Given the description of an element on the screen output the (x, y) to click on. 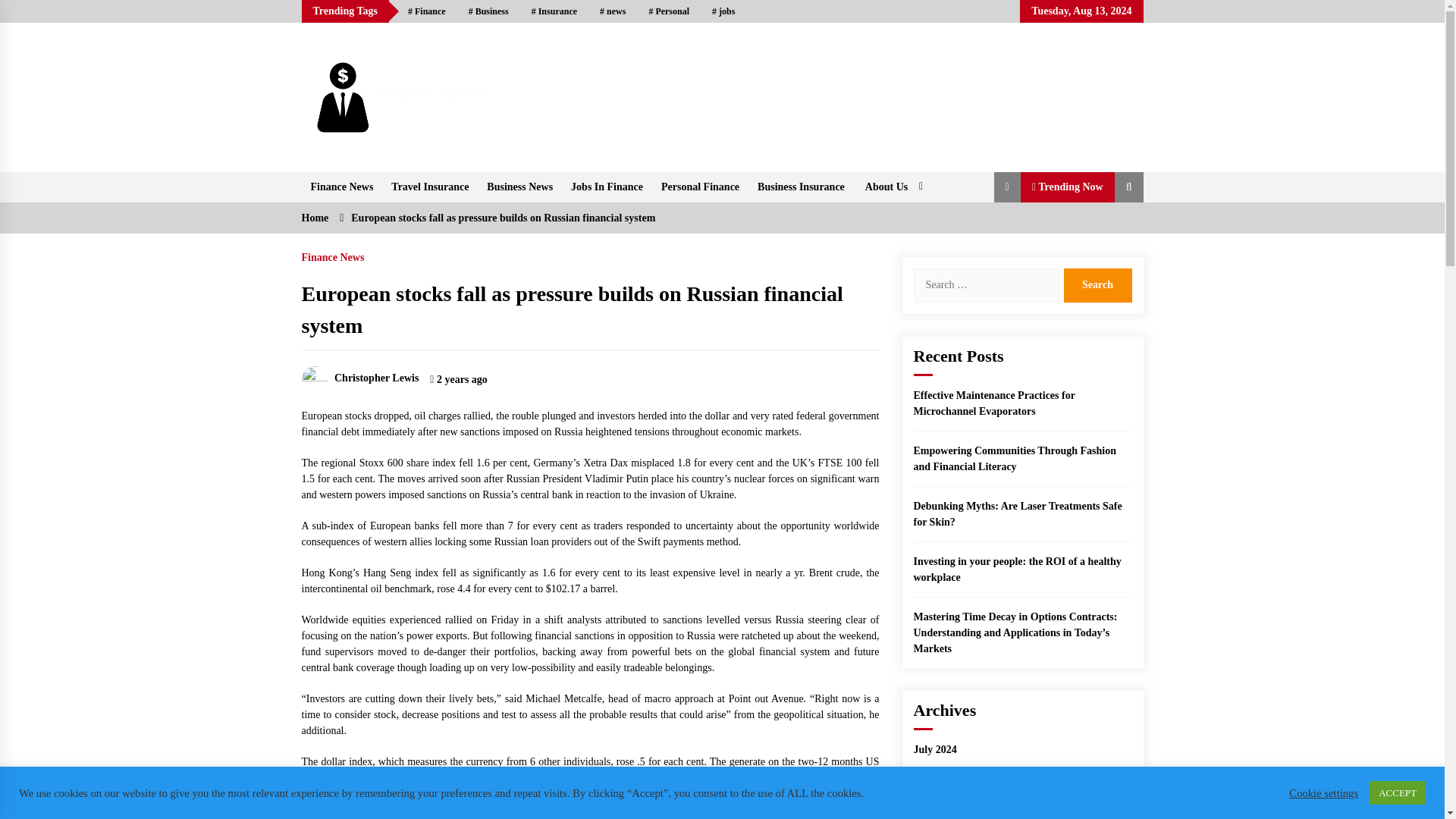
Search (1096, 285)
news (612, 11)
Business News (519, 186)
Search (1096, 285)
Insurance (553, 11)
Finance (426, 11)
About Us (891, 186)
Personal Finance (700, 186)
Finance News (341, 186)
Travel Insurance (429, 186)
